Given the description of an element on the screen output the (x, y) to click on. 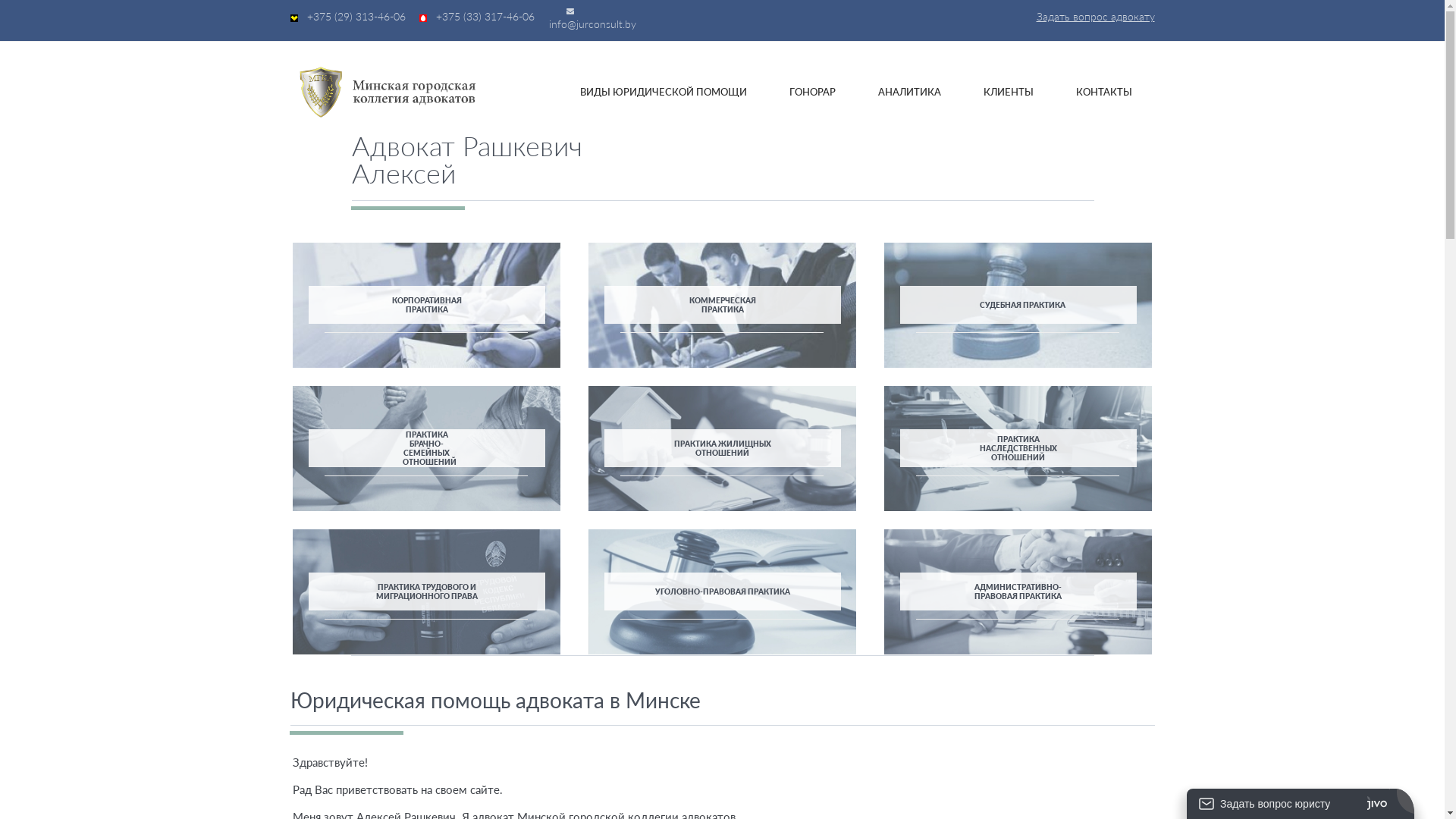
+375 (33) 317-46-06 Element type: text (485, 15)
info@jurconsult.by Element type: text (592, 23)
+375 (29) 313-46-06 Element type: text (355, 15)
